Given the description of an element on the screen output the (x, y) to click on. 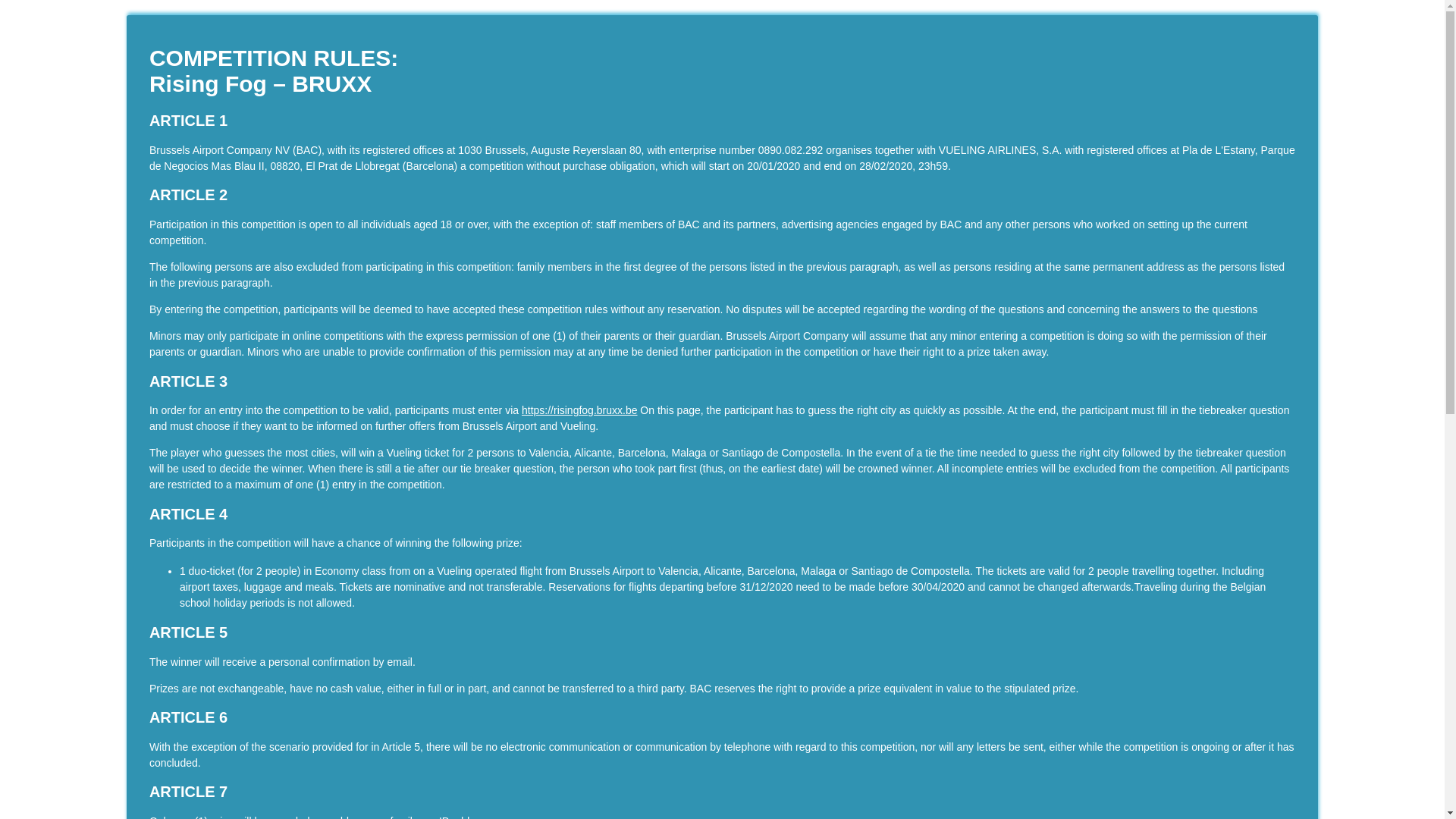
https://risingfog.bruxx.be Element type: text (579, 410)
